Given the description of an element on the screen output the (x, y) to click on. 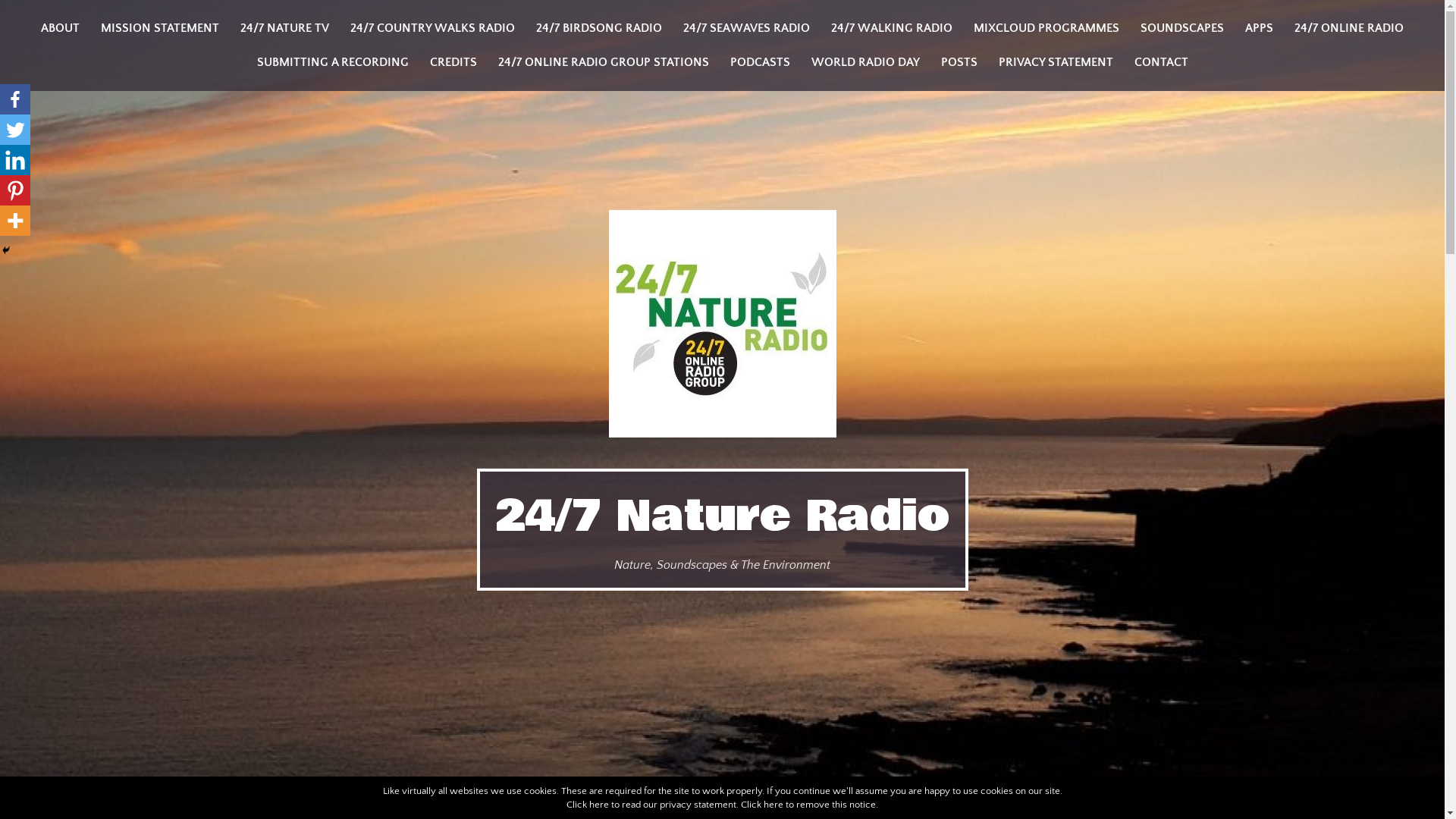
CONTACT Element type: text (1161, 62)
Search Element type: text (44, 16)
SUBMITTING A RECORDING Element type: text (332, 62)
24/7 BIRDSONG RADIO Element type: text (599, 28)
Click here to read our privacy statement. Element type: text (652, 804)
24/7 Nature Radio Element type: text (721, 516)
24/7 SEAWAVES RADIO Element type: text (746, 28)
MIXCLOUD PROGRAMMES Element type: text (1046, 28)
24/7 WALKING RADIO Element type: text (891, 28)
24/7 NATURE TV Element type: text (284, 28)
POSTS Element type: text (958, 62)
Pinterest Element type: hover (15, 190)
WORLD RADIO DAY Element type: text (865, 62)
PRIVACY STATEMENT Element type: text (1054, 62)
24/7 ONLINE RADIO Element type: text (1348, 28)
APPS Element type: text (1259, 28)
Twitter Element type: hover (15, 129)
ABOUT Element type: text (59, 28)
PODCASTS Element type: text (759, 62)
CREDITS Element type: text (452, 62)
MISSION STATEMENT Element type: text (159, 28)
Facebook Element type: hover (15, 99)
Hide Element type: hover (6, 250)
24/7 COUNTRY WALKS RADIO Element type: text (432, 28)
SOUNDSCAPES Element type: text (1182, 28)
More Element type: hover (15, 220)
24/7 ONLINE RADIO GROUP STATIONS Element type: text (602, 62)
Linkedin Element type: hover (15, 159)
